Given the description of an element on the screen output the (x, y) to click on. 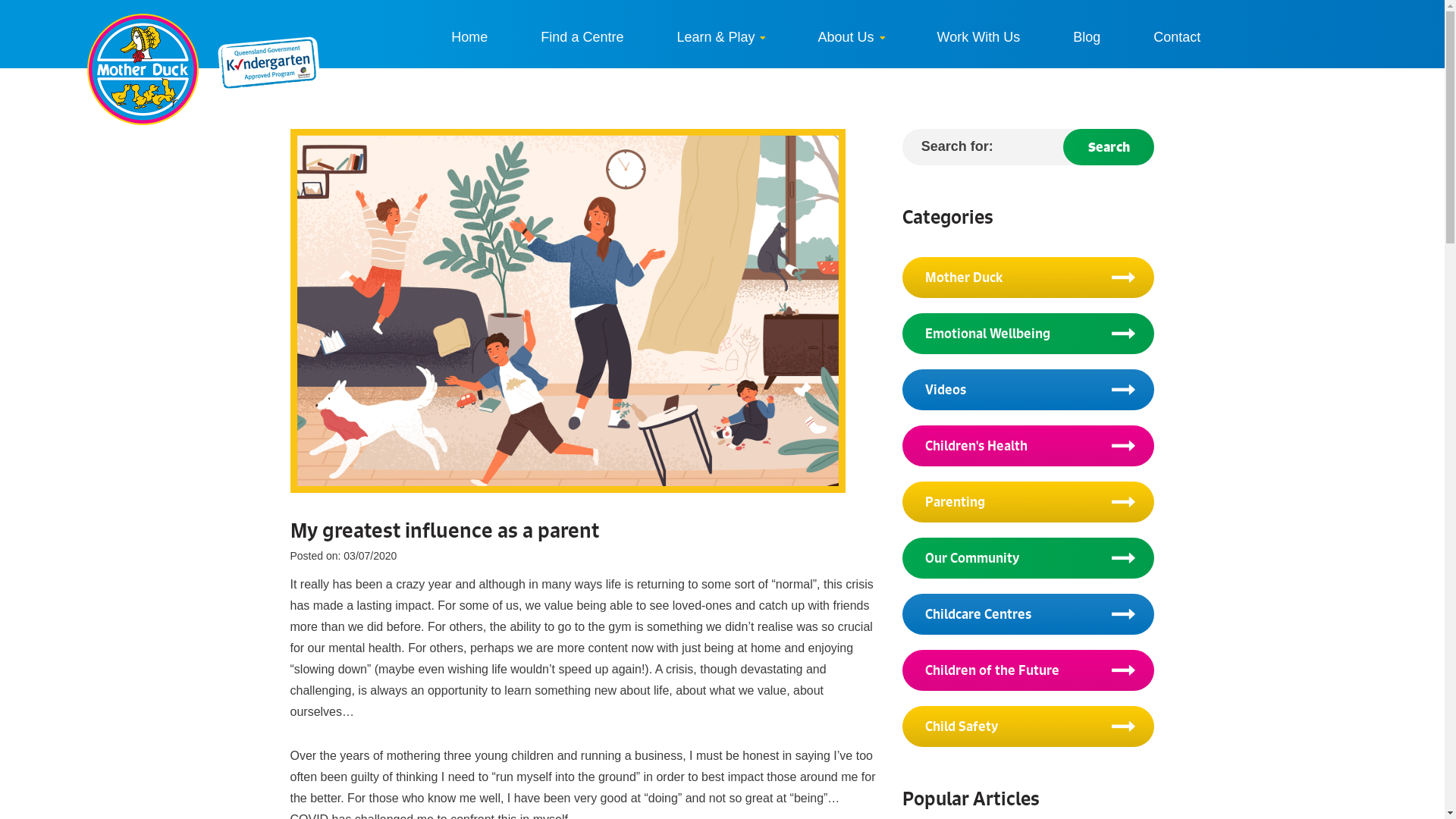
Contact Element type: text (1176, 36)
Blog Element type: text (1086, 36)
About Us Element type: text (850, 36)
Home Element type: text (469, 36)
Children of the Future Element type: text (1028, 669)
Videos Element type: text (1028, 389)
Parenting Element type: text (1028, 501)
Find a Centre Element type: text (581, 36)
Work With Us Element type: text (978, 36)
Childcare Centres Element type: text (1028, 613)
Children's Health Element type: text (1028, 445)
Search Element type: text (51, 23)
Search Element type: text (1108, 146)
Mother Duck Element type: text (1028, 277)
Learn & Play Element type: text (719, 36)
Emotional Wellbeing Element type: text (1028, 333)
Our Community Element type: text (1028, 557)
Child Safety Element type: text (1028, 726)
